Given the description of an element on the screen output the (x, y) to click on. 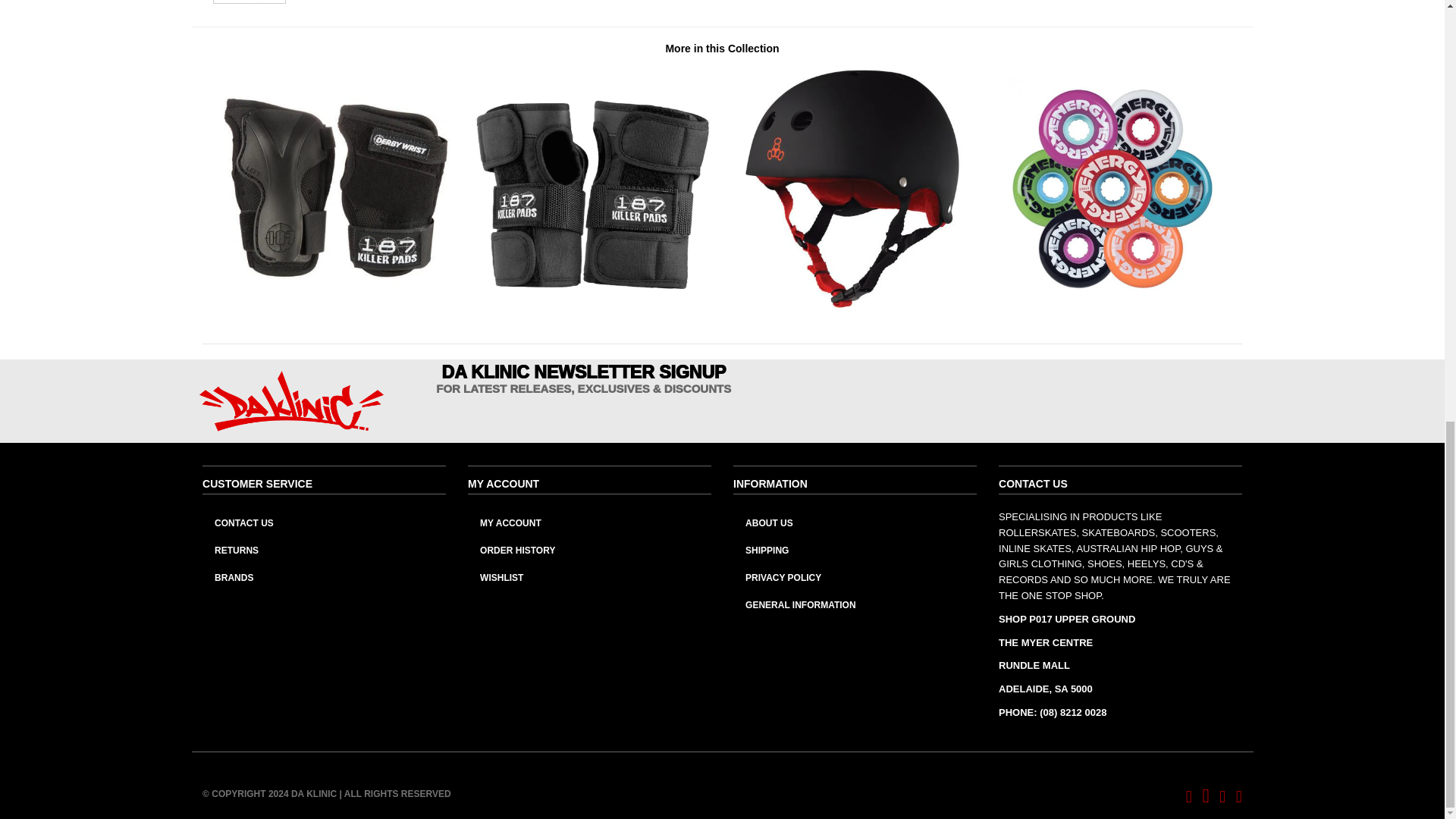
187 Wrist Guard Black (592, 304)
187 Derby Wrist Guards (331, 304)
Triple 8 Skate Helmet SS Black Rubber w Red Liner (852, 304)
